Given the description of an element on the screen output the (x, y) to click on. 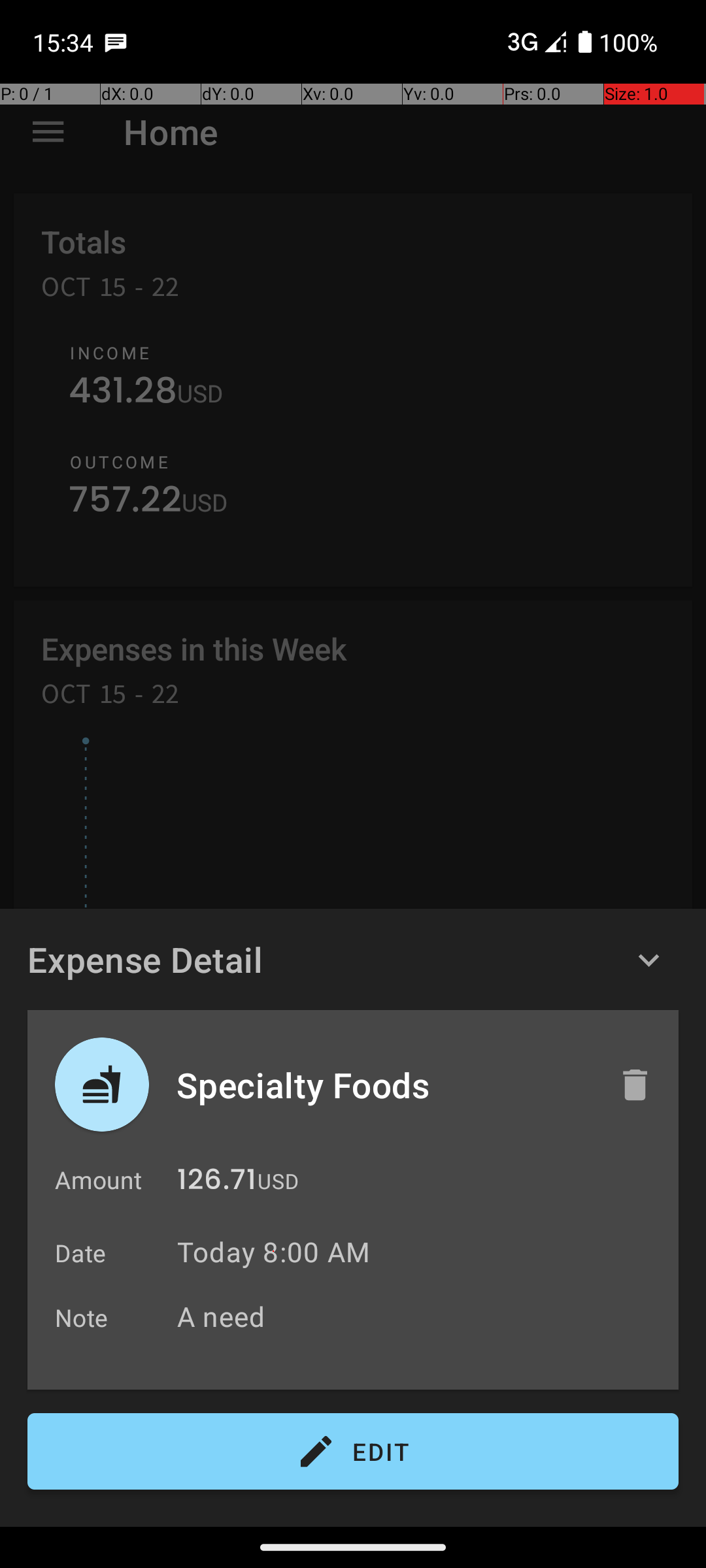
Specialty Foods Element type: android.widget.TextView (383, 1084)
126.71 Element type: android.widget.TextView (216, 1182)
Today 8:00 AM Element type: android.widget.TextView (273, 1251)
A need Element type: android.widget.TextView (420, 1315)
SMS Messenger notification: +12845986552 Element type: android.widget.ImageView (115, 41)
